Given the description of an element on the screen output the (x, y) to click on. 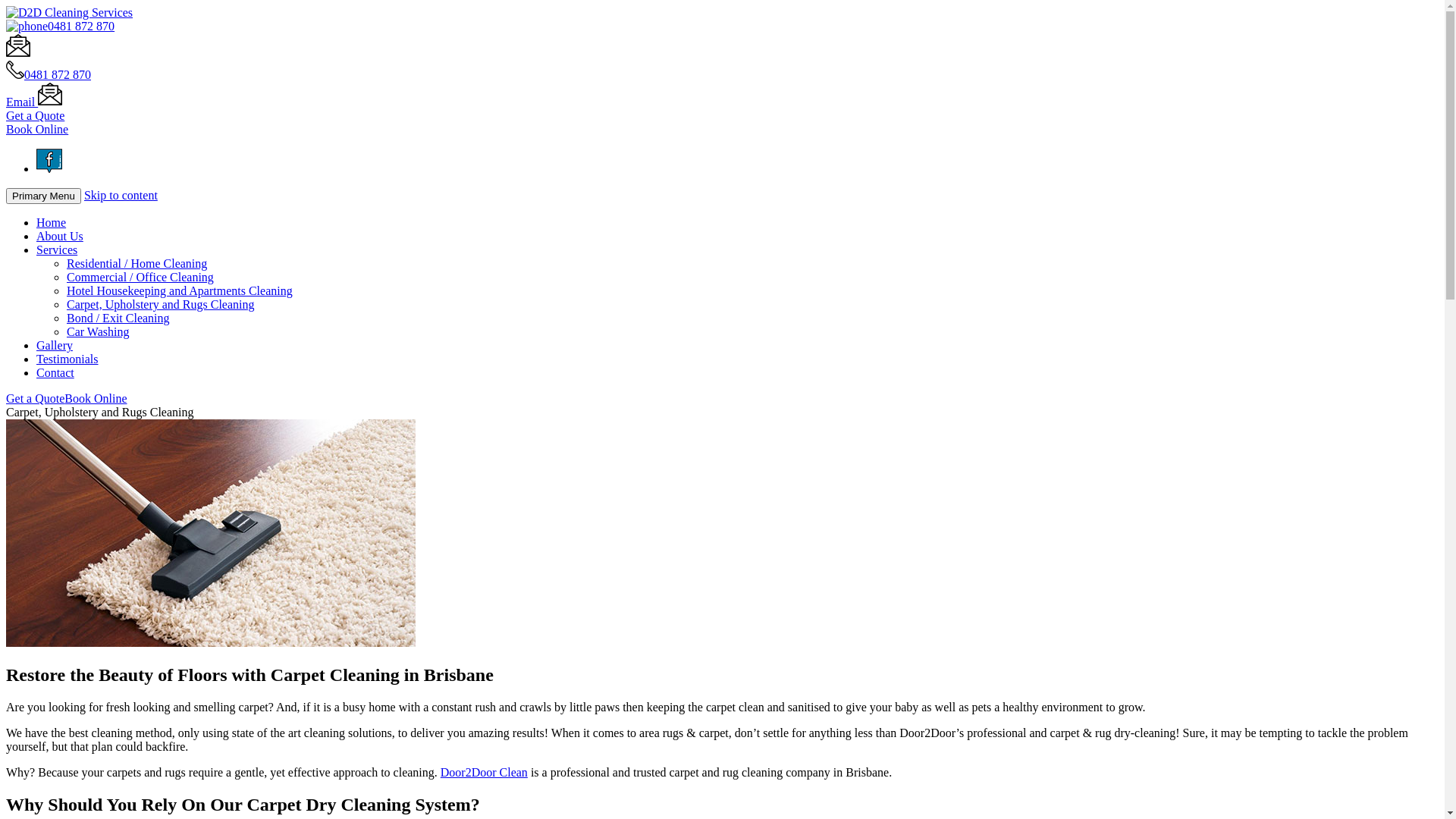
0481 872 870 Element type: text (60, 25)
Gallery Element type: text (54, 344)
Get a Quote Element type: text (35, 398)
Carpet, Upholstery and Rugs Cleaning Element type: text (160, 304)
Home Element type: text (50, 222)
Contact Element type: text (55, 372)
Hotel Housekeeping and Apartments Cleaning Element type: text (179, 290)
About Us Element type: text (59, 235)
Bond / Exit Cleaning Element type: text (117, 317)
Door2Door Clean Element type: text (483, 771)
Car Washing Element type: text (97, 331)
Get a Quote Element type: text (35, 115)
Book Online Element type: text (95, 398)
Testimonials Element type: text (67, 358)
Email Element type: text (34, 101)
Residential / Home Cleaning Element type: text (136, 263)
0481 872 870 Element type: text (57, 74)
Services Element type: text (56, 249)
Skip to content Element type: text (120, 194)
Book Online Element type: text (37, 128)
Commercial / Office Cleaning Element type: text (139, 276)
Primary Menu Element type: text (43, 195)
